Given the description of an element on the screen output the (x, y) to click on. 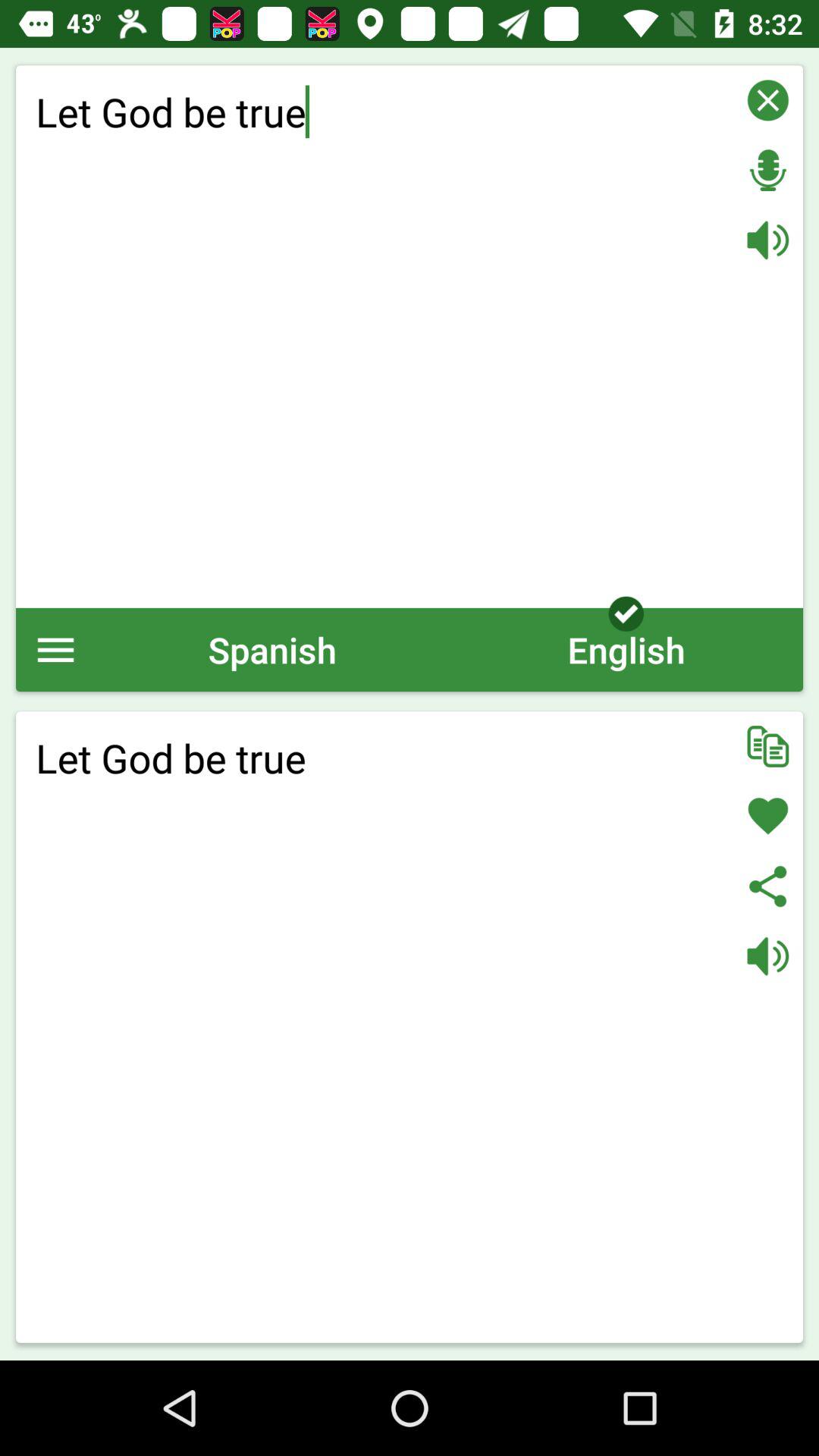
scroll to the spanish (272, 649)
